Given the description of an element on the screen output the (x, y) to click on. 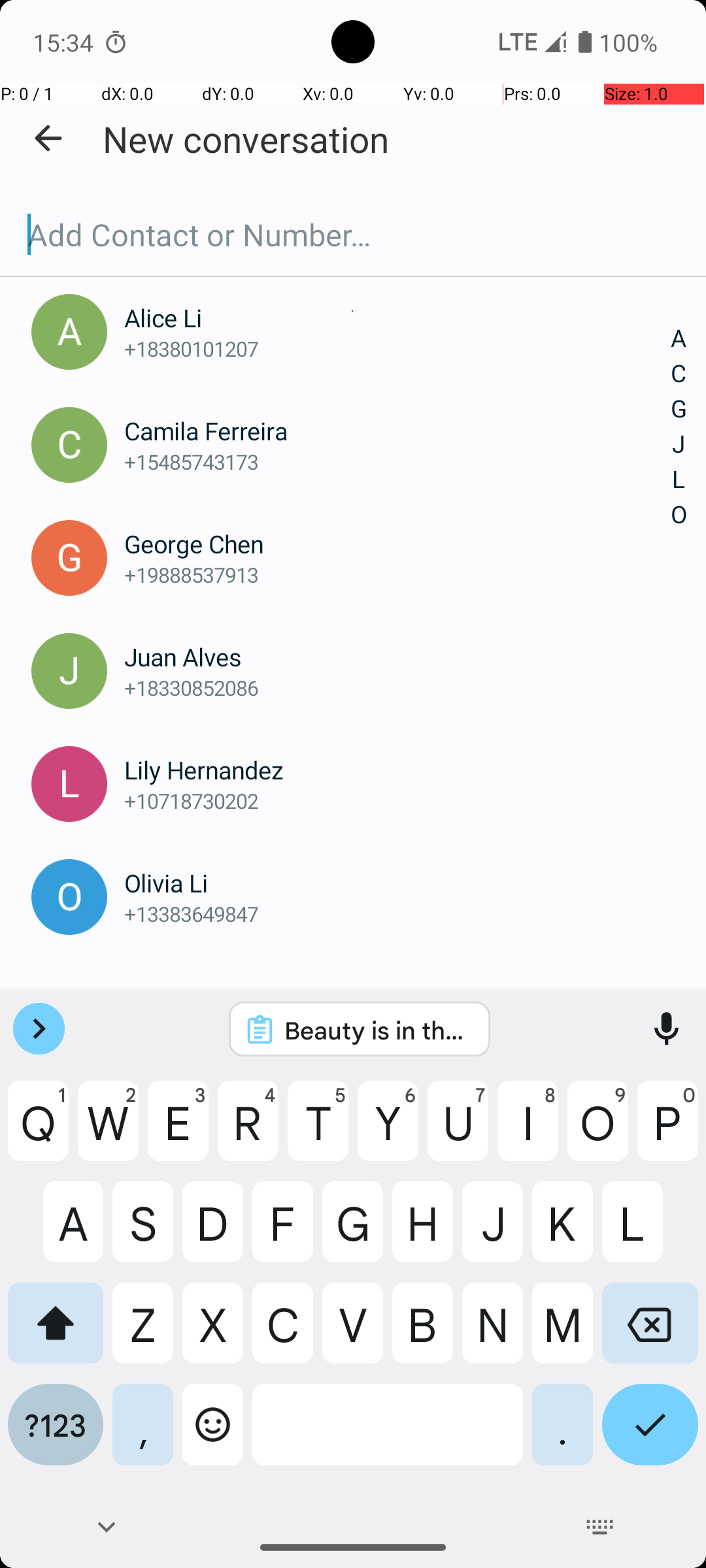
A
C
G
J
L
O Element type: android.widget.TextView (678, 426)
Alice Li Element type: android.widget.TextView (397, 317)
+18380101207 Element type: android.widget.TextView (397, 348)
Camila Ferreira Element type: android.widget.TextView (397, 430)
+15485743173 Element type: android.widget.TextView (397, 461)
George Chen Element type: android.widget.TextView (397, 543)
+19888537913 Element type: android.widget.TextView (397, 574)
Juan Alves Element type: android.widget.TextView (397, 656)
+18330852086 Element type: android.widget.TextView (397, 687)
Lily Hernandez Element type: android.widget.TextView (397, 769)
+10718730202 Element type: android.widget.TextView (397, 800)
Olivia Li Element type: android.widget.TextView (397, 882)
+13383649847 Element type: android.widget.TextView (397, 913)
